Given the description of an element on the screen output the (x, y) to click on. 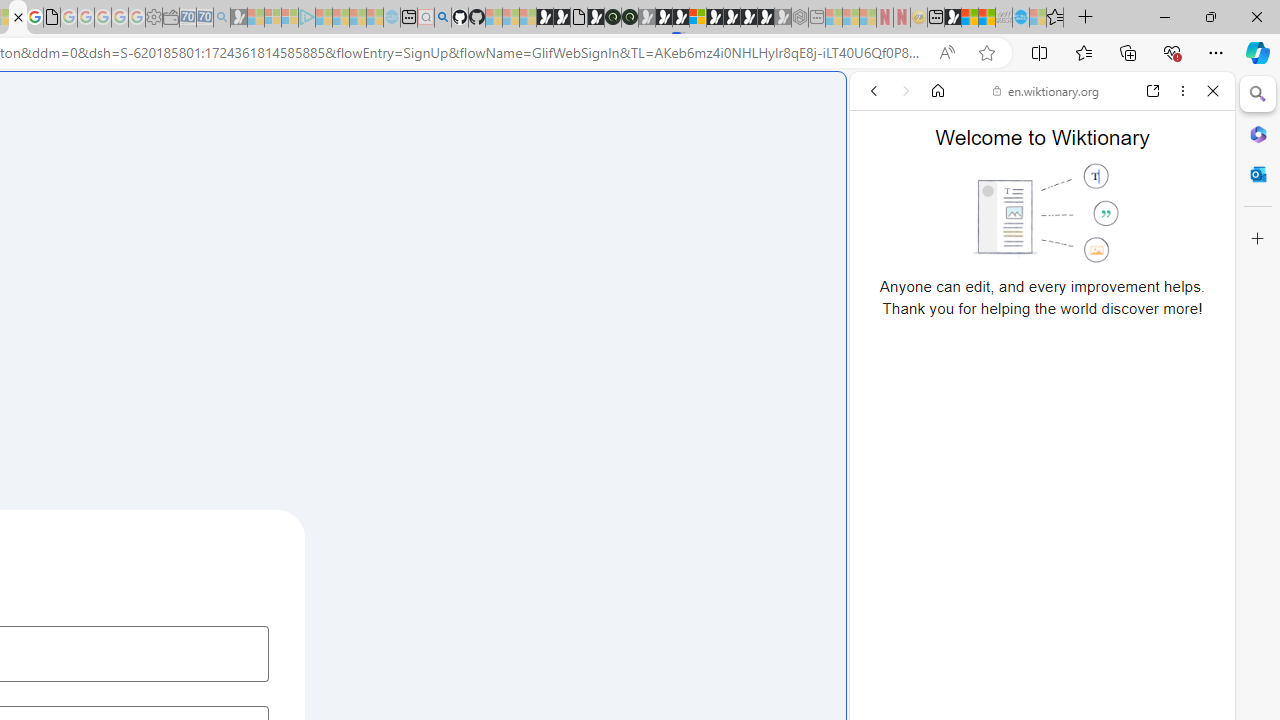
Earth has six continents not seven, radical new study claims (986, 17)
